Given the description of an element on the screen output the (x, y) to click on. 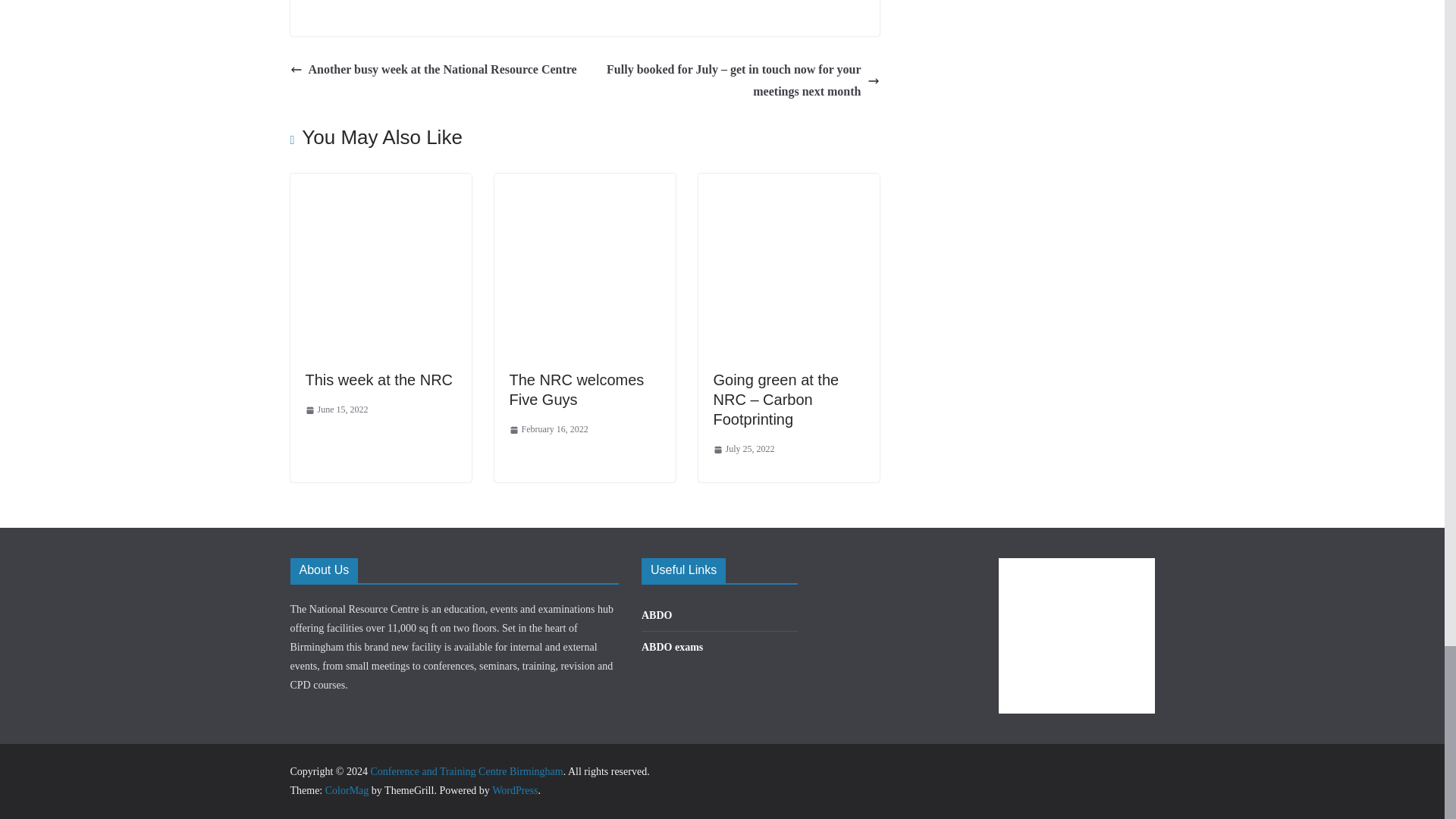
This week at the NRC (379, 183)
9:06 am (336, 410)
February 16, 2022 (548, 429)
The NRC welcomes Five Guys (577, 389)
June 15, 2022 (336, 410)
The NRC welcomes Five Guys (585, 183)
This week at the NRC (378, 379)
Another busy week at the National Resource Centre (432, 69)
July 25, 2022 (743, 449)
The NRC welcomes Five Guys (577, 389)
